Given the description of an element on the screen output the (x, y) to click on. 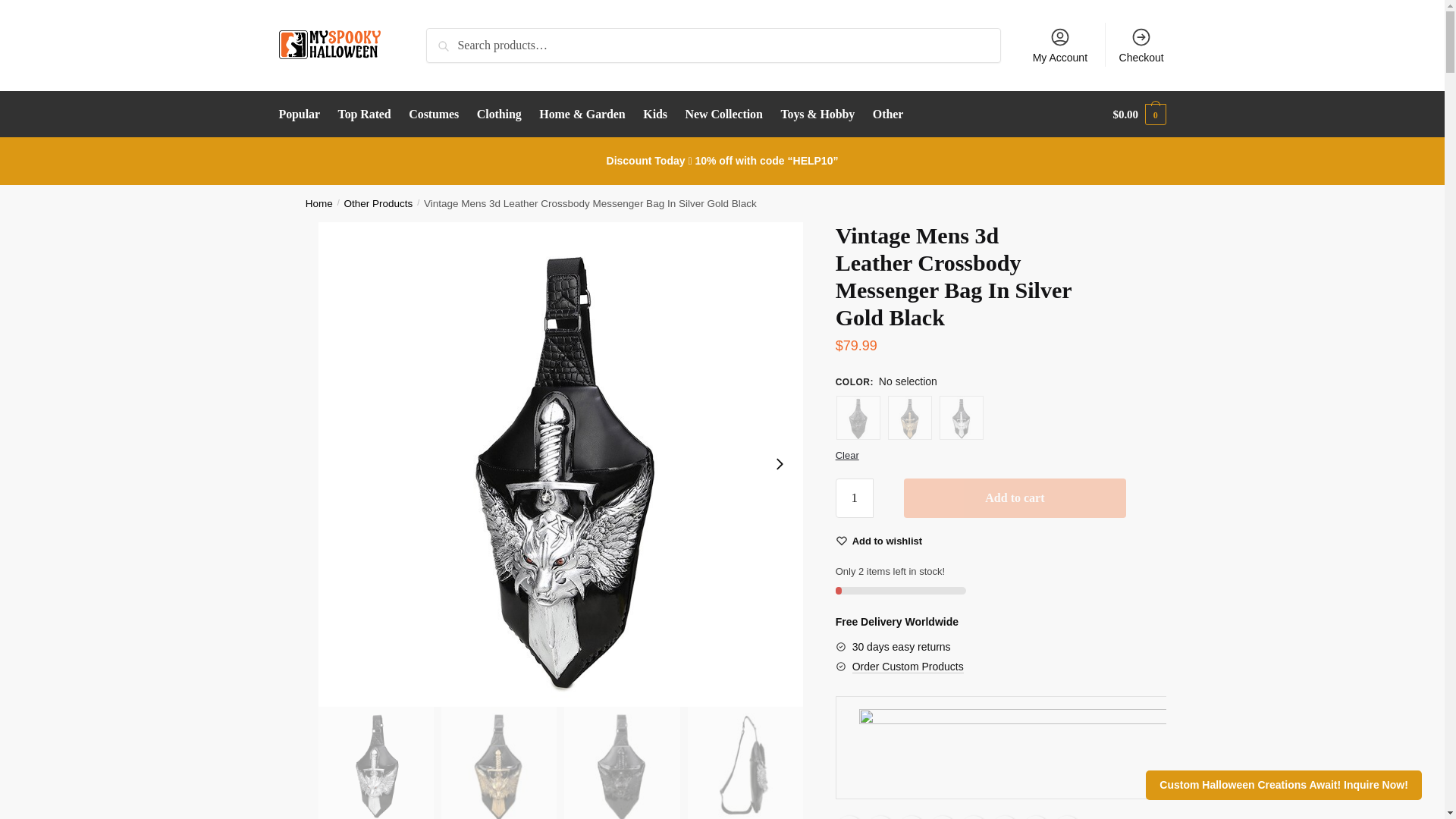
View your shopping cart (1139, 114)
Clothing (498, 114)
Checkout (1141, 44)
Other Products (378, 202)
New Collection (724, 114)
Home (319, 202)
